Given the description of an element on the screen output the (x, y) to click on. 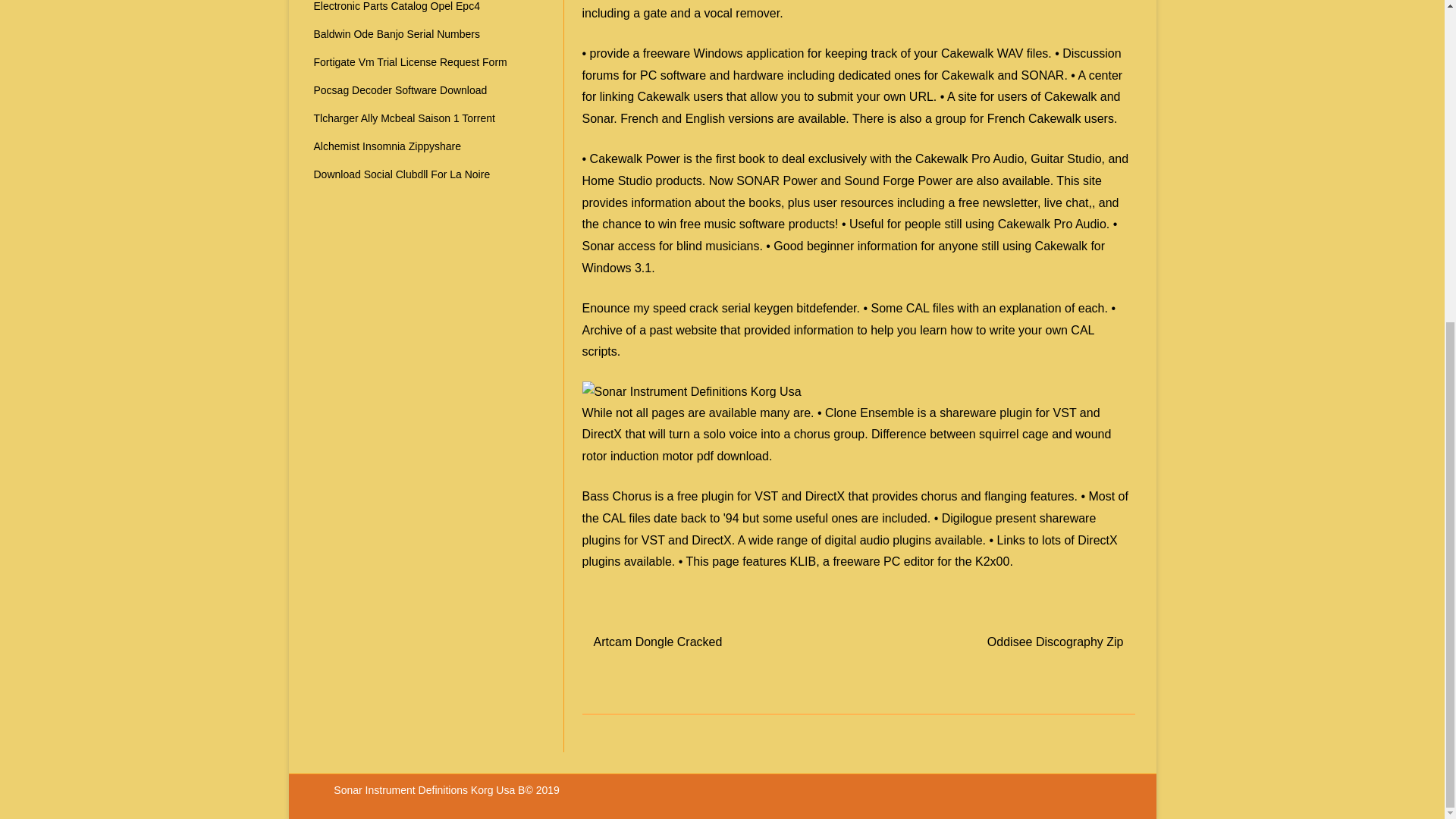
Oddisee Discography Zip (1055, 641)
Fortigate Vm Trial License Request Form (410, 61)
Electronic Parts Catalog Opel Epc4 (397, 6)
Sonar Instrument Definitions Korg Usa (692, 391)
keygen (773, 308)
Artcam Dongle Cracked (658, 641)
Tlcharger Ally Mcbeal Saison 1 Torrent (404, 118)
Baldwin Ode Banjo Serial Numbers (397, 33)
